Given the description of an element on the screen output the (x, y) to click on. 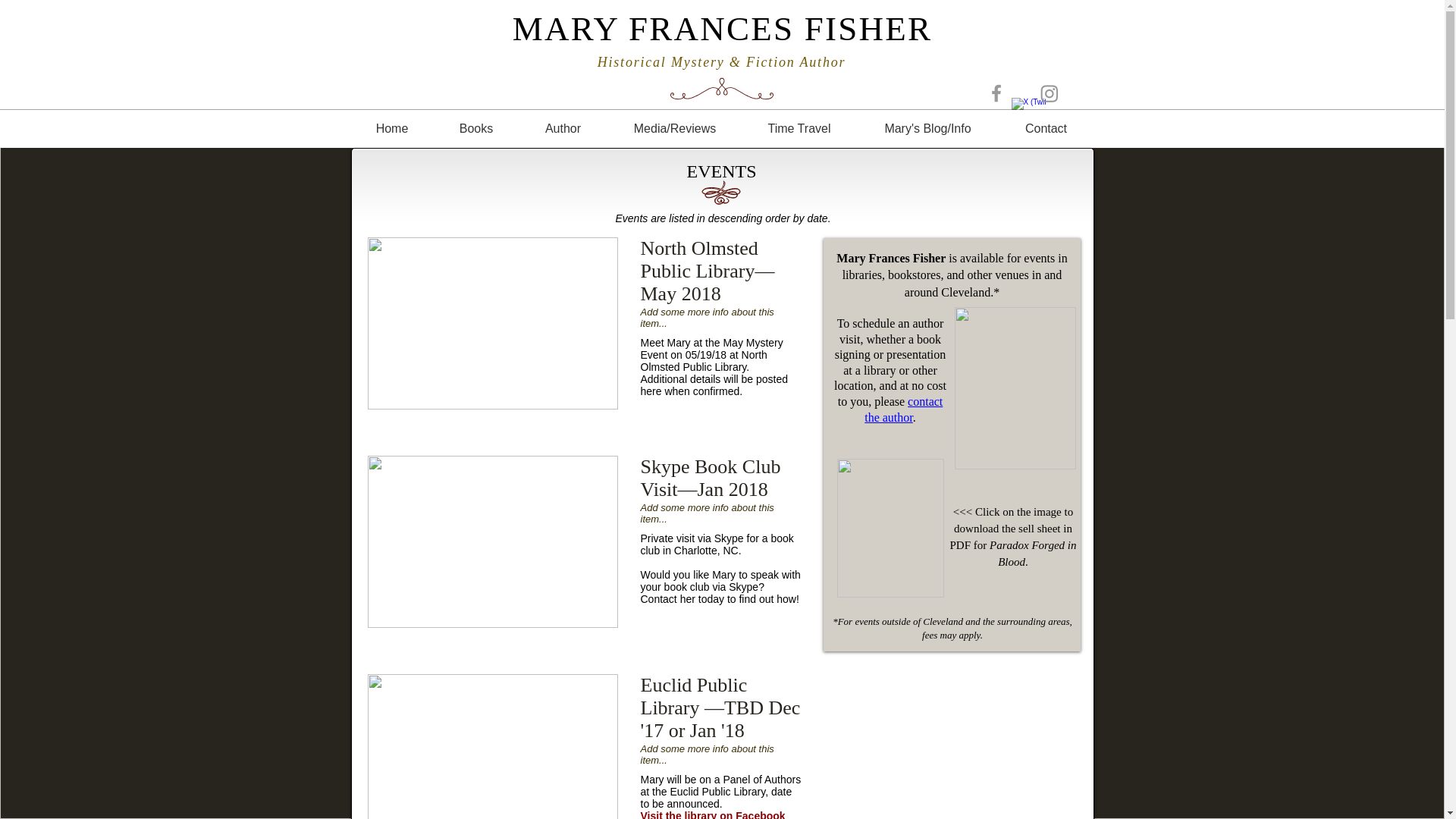
Contact (1045, 128)
Books (475, 128)
Time Travel (798, 128)
Author (563, 128)
MARY FRANCES FISHER (722, 28)
Visit the library on Facebook (712, 814)
Home (391, 128)
contact the author (903, 409)
